Given the description of an element on the screen output the (x, y) to click on. 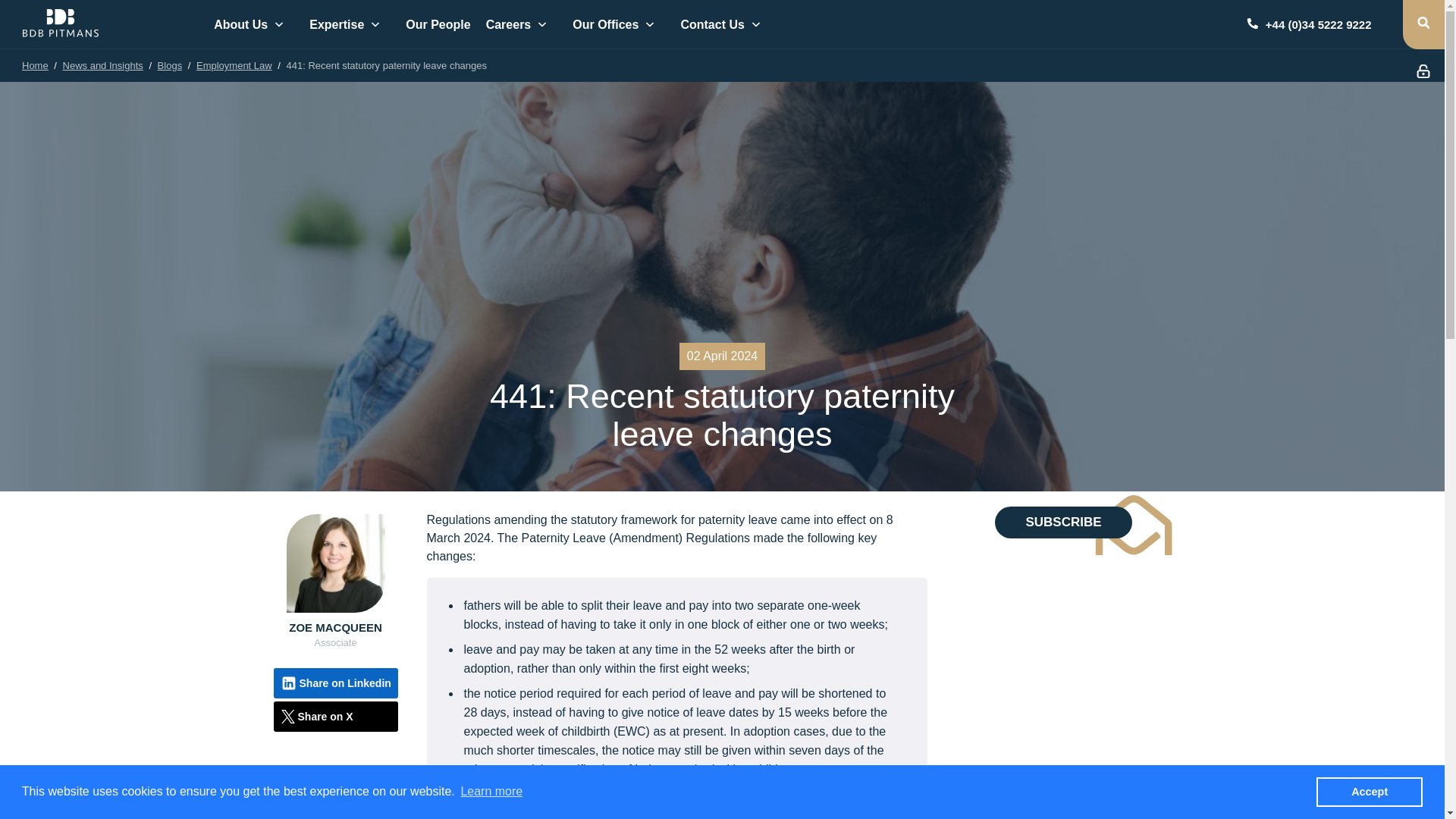
Accept (1369, 791)
Learn more (491, 791)
